Given the description of an element on the screen output the (x, y) to click on. 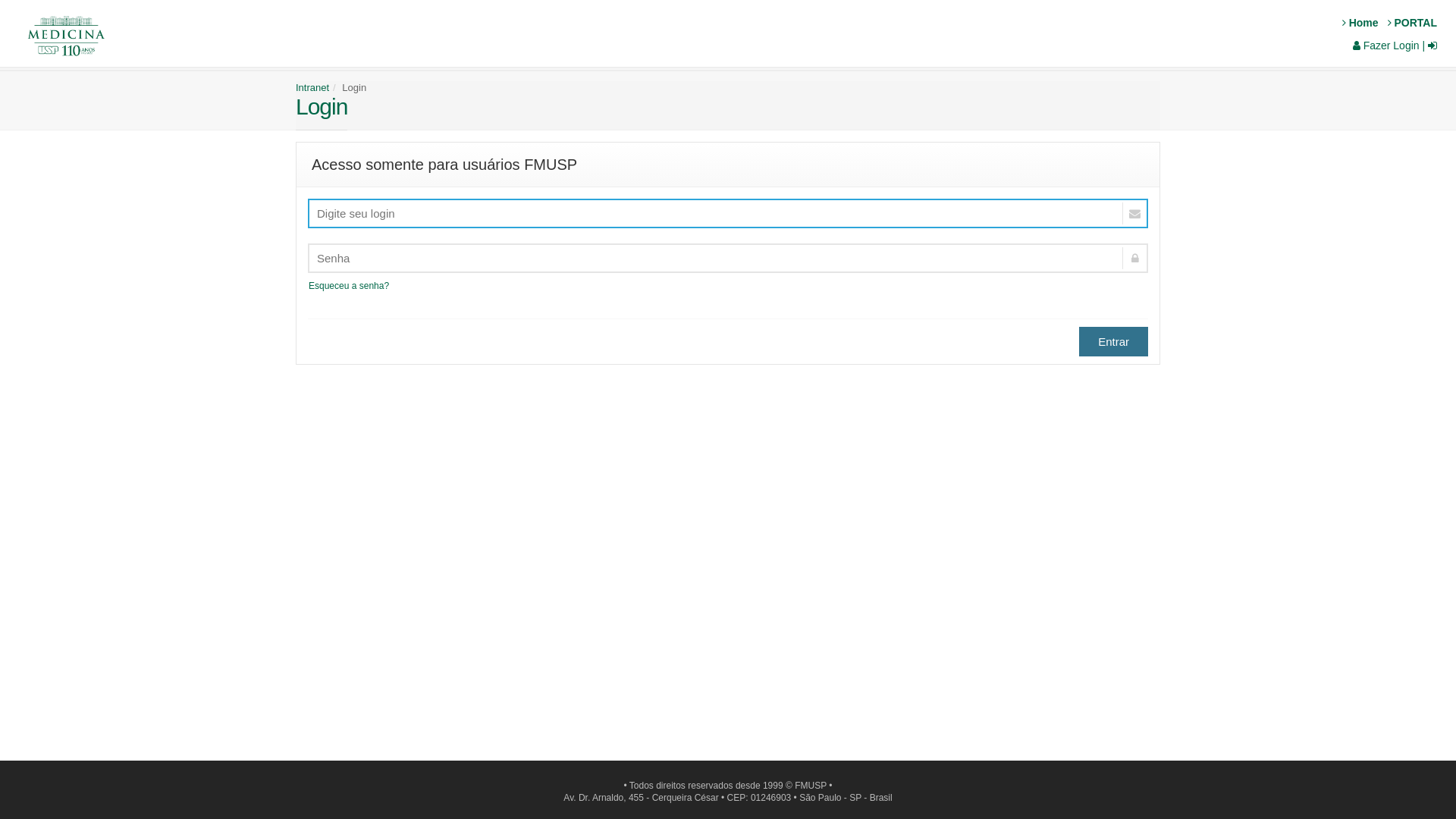
Intranet Element type: text (312, 87)
Entrar Element type: text (1113, 341)
Esqueceu a senha? Element type: text (348, 285)
Fazer Login | Element type: text (1394, 45)
PORTAL Element type: text (1408, 22)
Home Element type: text (1356, 22)
